Given the description of an element on the screen output the (x, y) to click on. 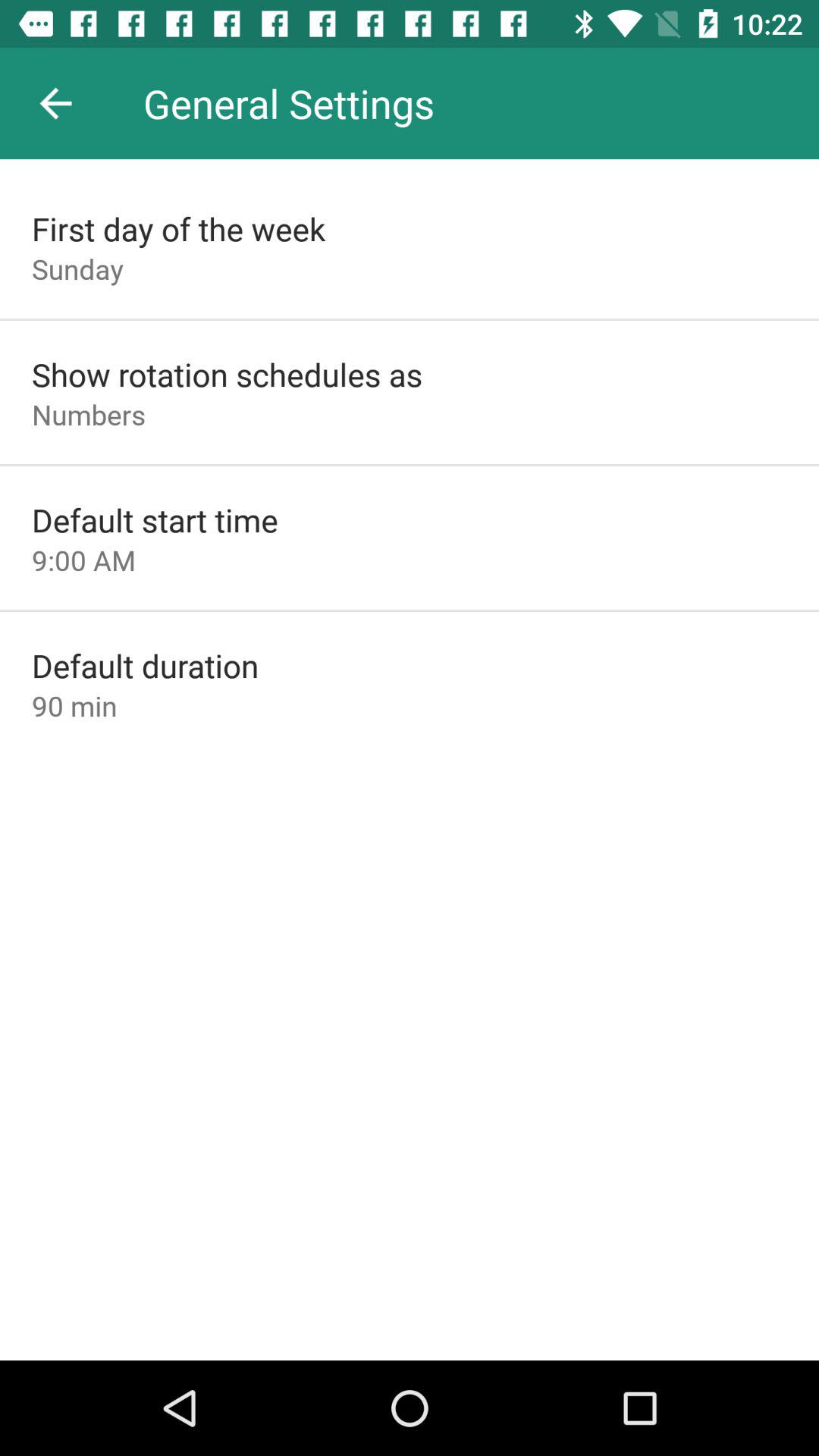
select the app to the left of general settings app (55, 103)
